Given the description of an element on the screen output the (x, y) to click on. 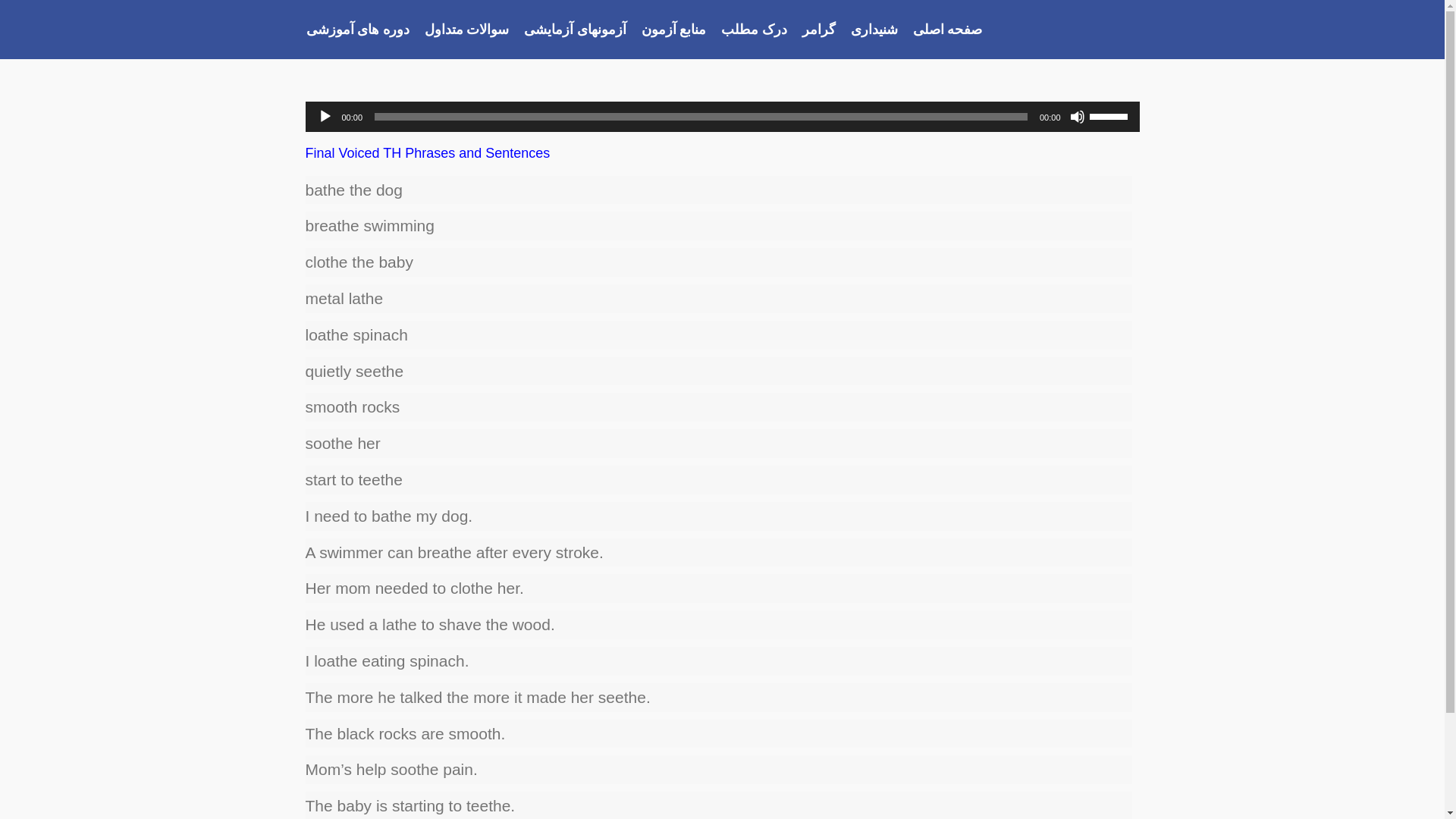
Mute (1076, 116)
Play (324, 116)
